Given the description of an element on the screen output the (x, y) to click on. 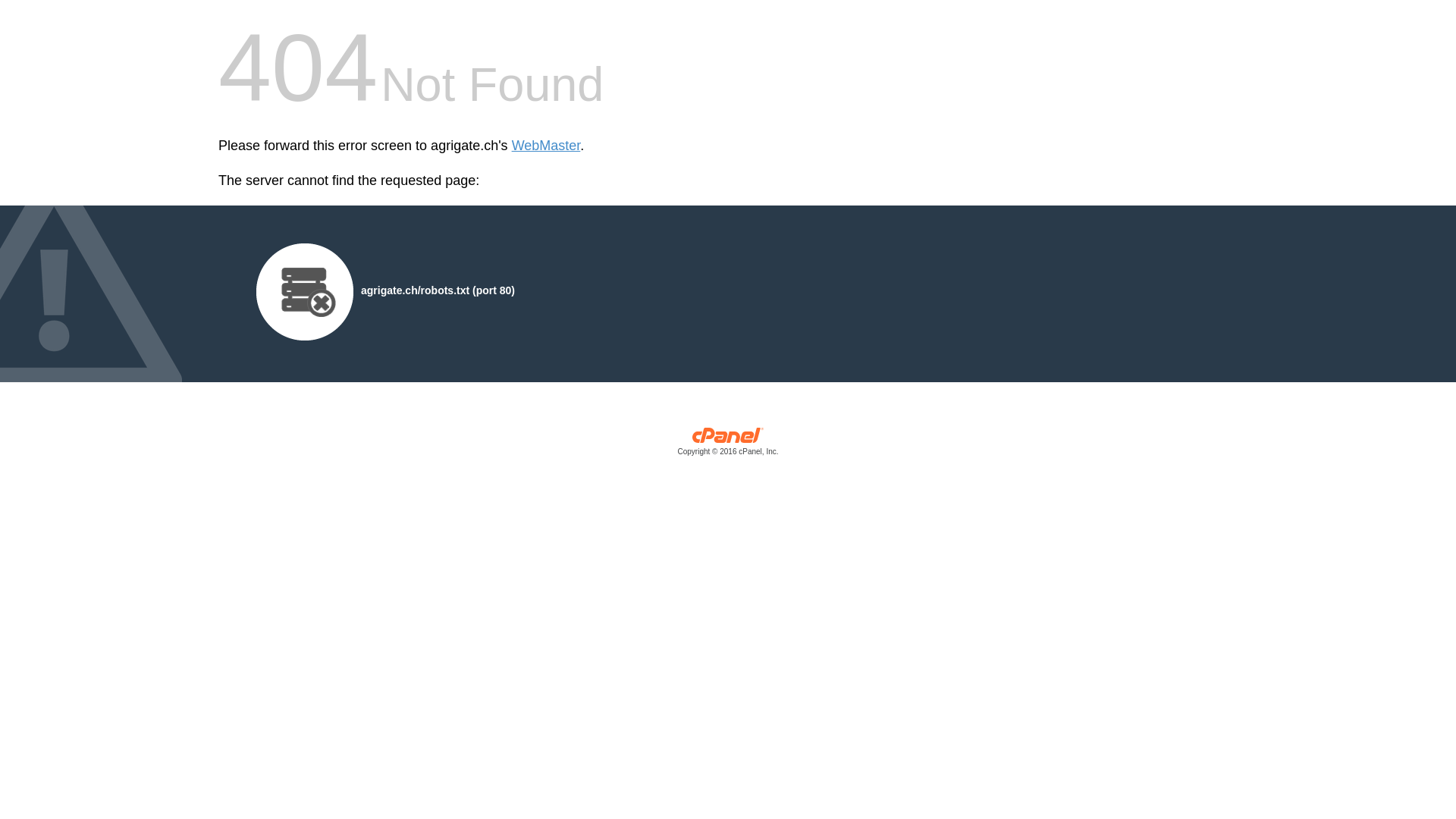
WebMaster Element type: text (545, 145)
